Given the description of an element on the screen output the (x, y) to click on. 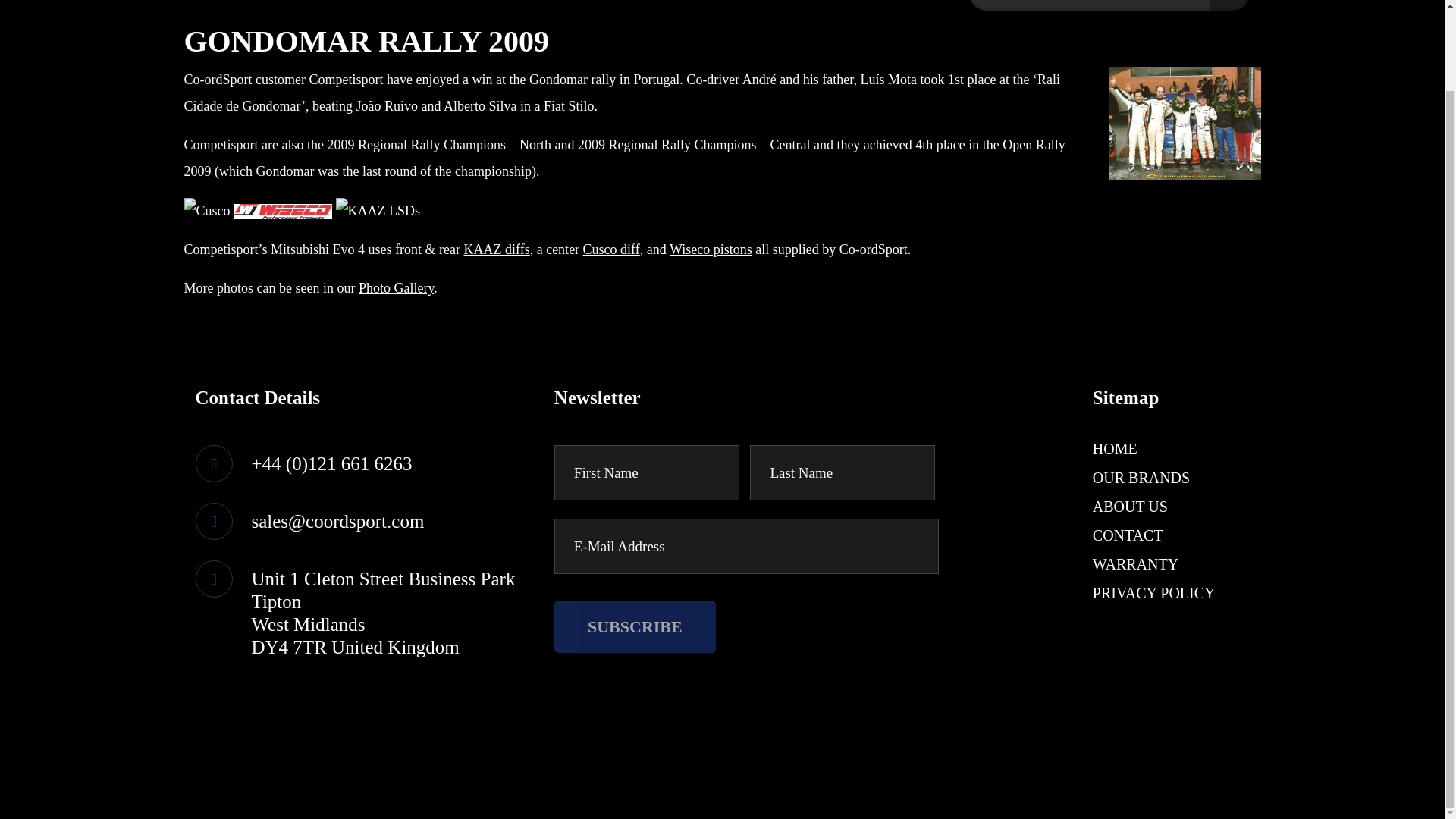
ABOUT US (1130, 506)
Wiseco pistons (710, 249)
Cusco diff (611, 249)
CONTACT (1128, 535)
WARRANTY (1135, 564)
OUR BRANDS (1141, 477)
SUBSCRIBE (635, 626)
Photo Gallery (395, 287)
KAAZ diffs (496, 249)
PRIVACY POLICY (1154, 593)
HOME (1115, 449)
